Given the description of an element on the screen output the (x, y) to click on. 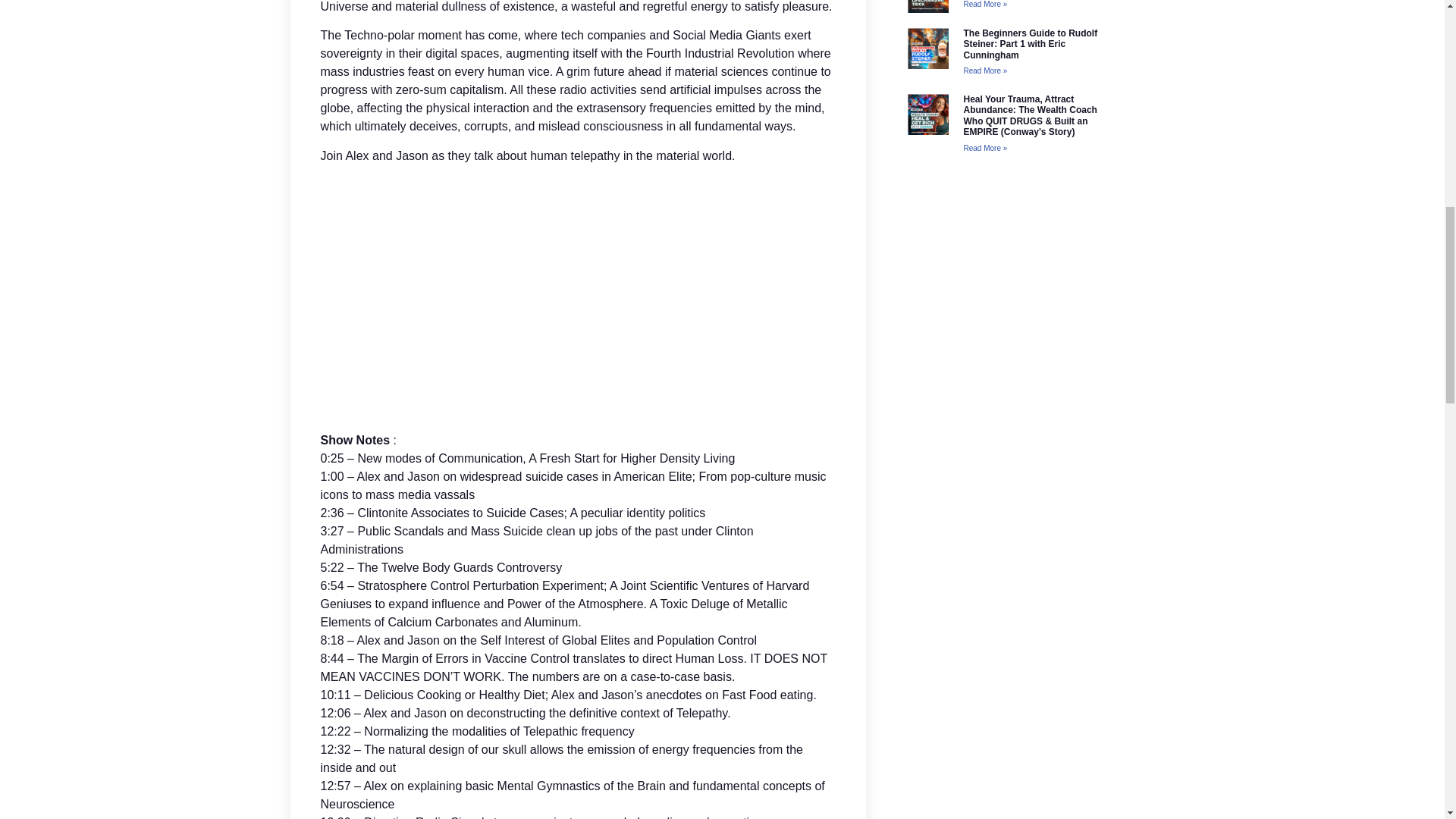
YouTube video player (577, 295)
